Given the description of an element on the screen output the (x, y) to click on. 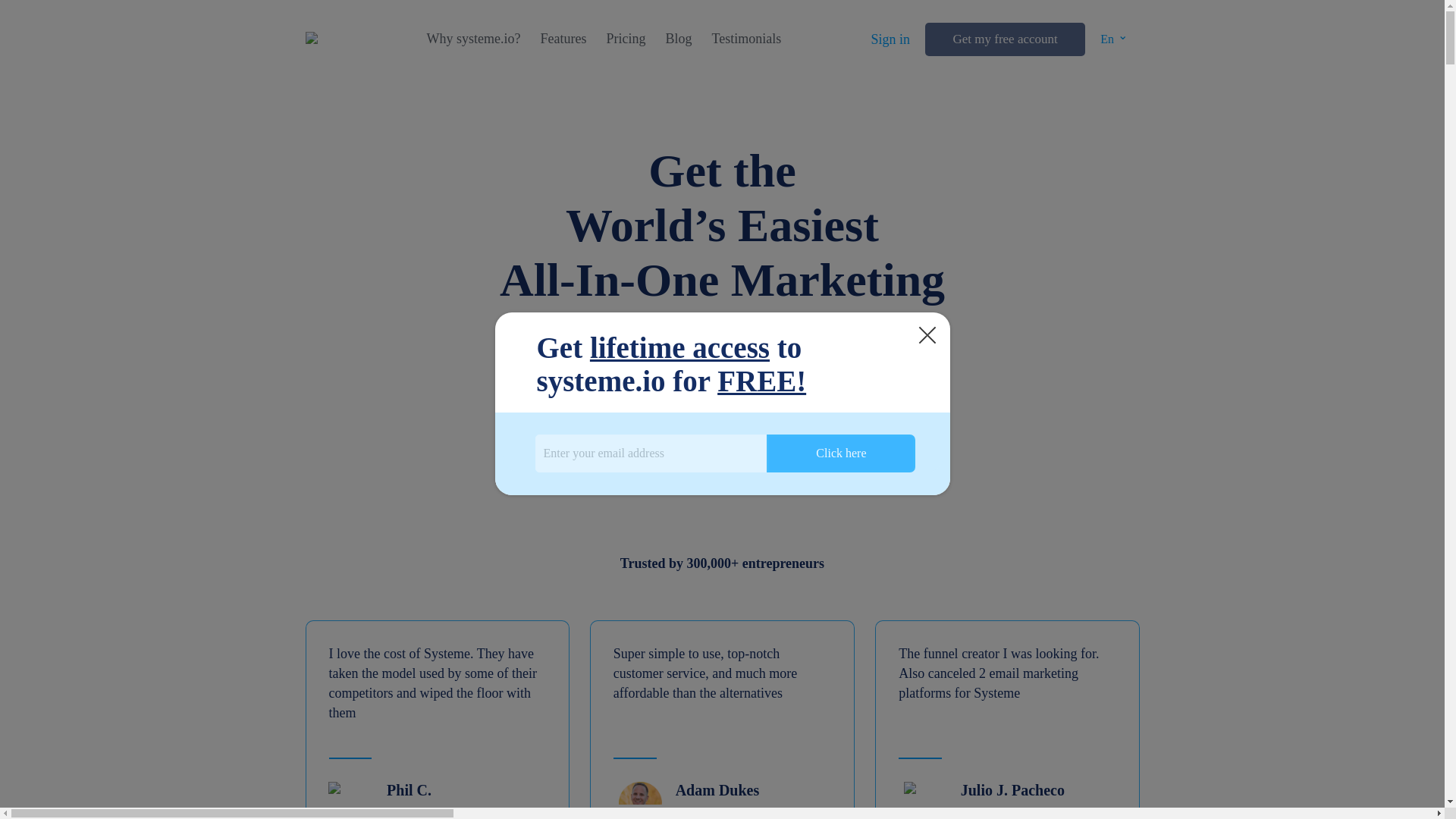
Get my free account (1004, 39)
Testimonials (745, 38)
Why systeme.io? (472, 38)
Features (563, 38)
Pricing (625, 38)
Blog (678, 38)
Sign in (890, 39)
